Given the description of an element on the screen output the (x, y) to click on. 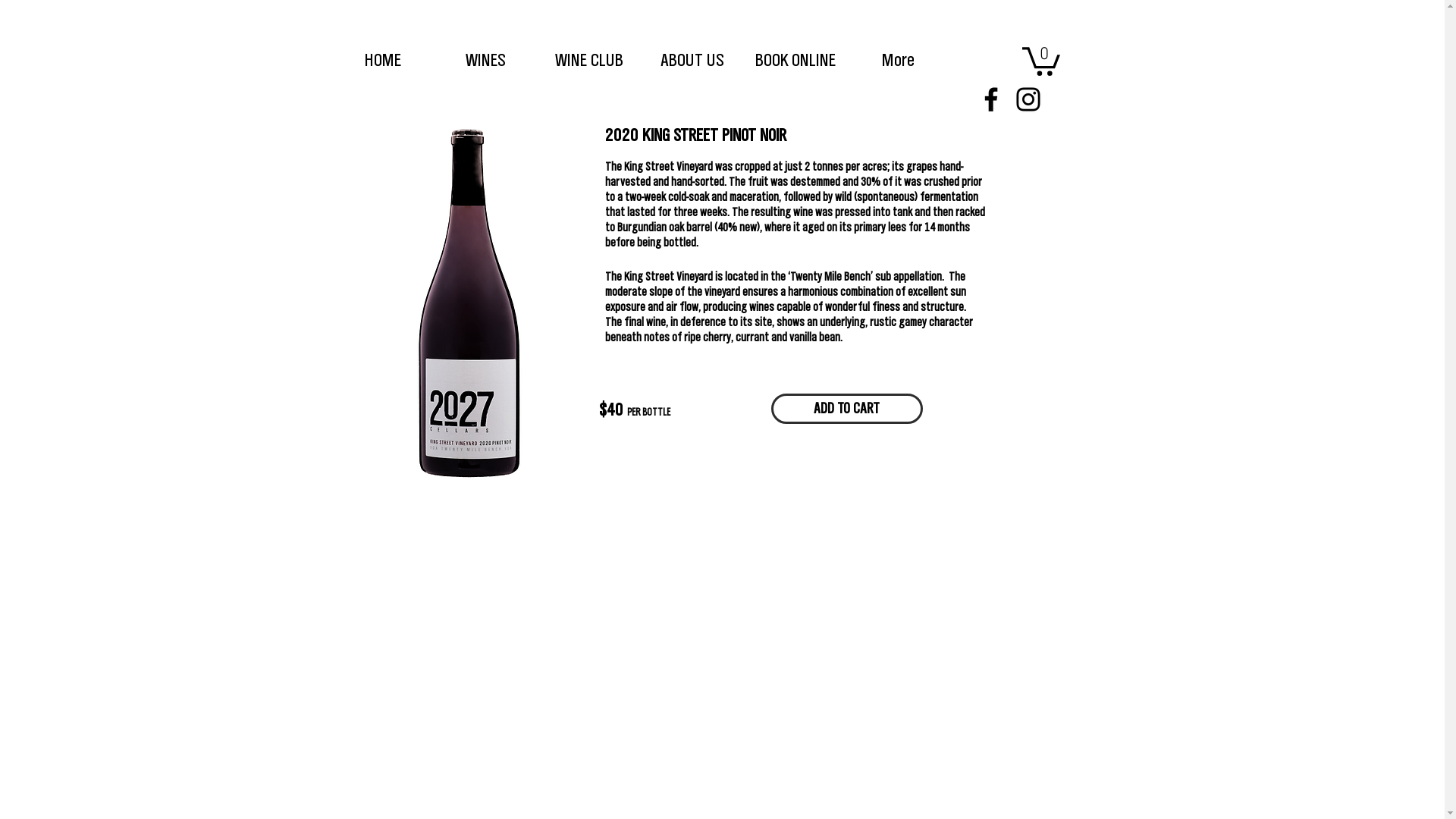
WINE CLUB Element type: text (588, 59)
BOOK ONLINE Element type: text (794, 59)
ADD TO CART Element type: text (846, 408)
HOME Element type: text (381, 59)
WINES Element type: text (484, 59)
0 Element type: text (1041, 59)
ABOUT US Element type: text (691, 59)
